Given the description of an element on the screen output the (x, y) to click on. 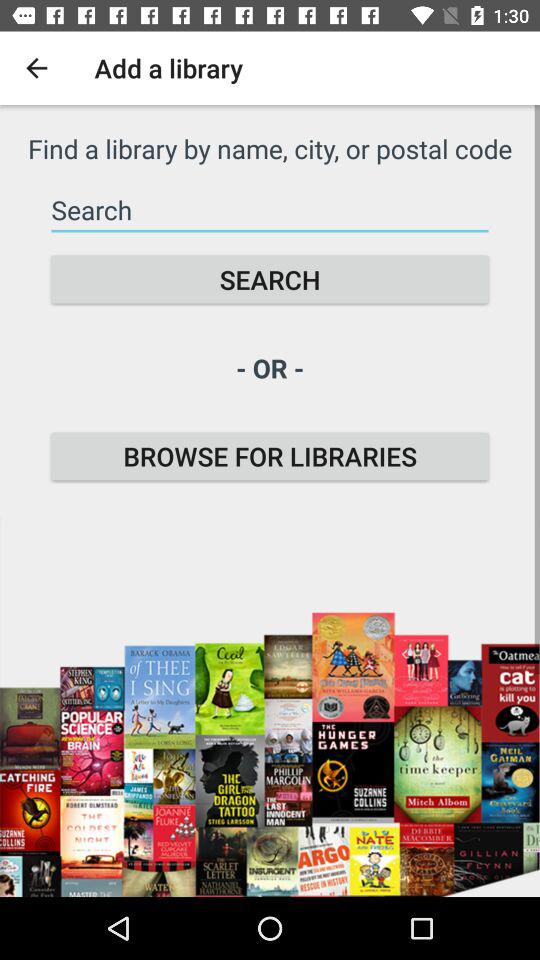
open item below - or - icon (269, 455)
